Given the description of an element on the screen output the (x, y) to click on. 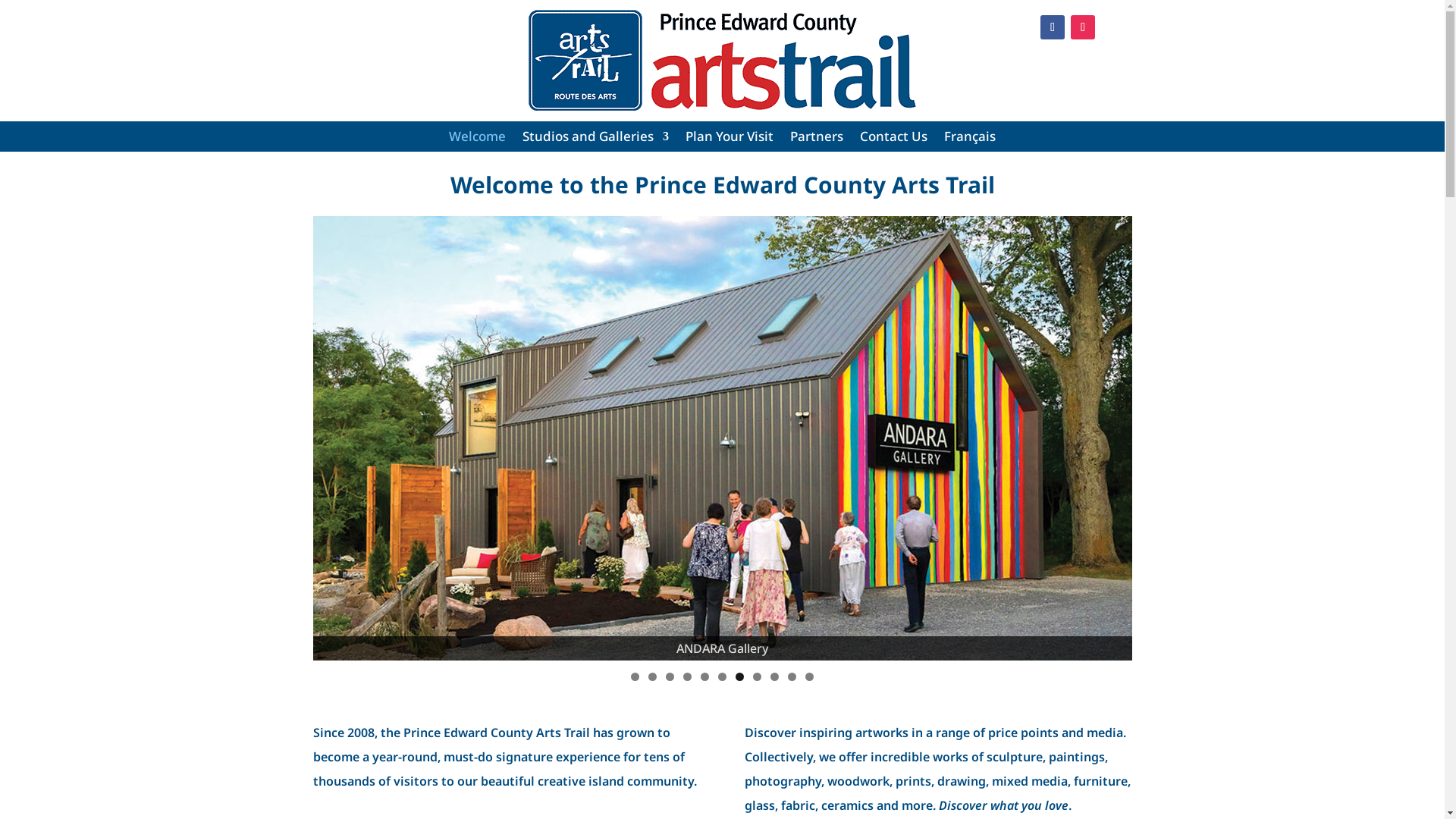
Partners Element type: text (816, 139)
3 Element type: text (669, 676)
Follow on Facebook Element type: hover (1052, 27)
2 Element type: text (652, 676)
ANDARA Gallery Element type: hover (721, 438)
Contact Us Element type: text (893, 139)
8 Element type: text (757, 676)
Plan Your Visit Element type: text (729, 139)
5 Element type: text (704, 676)
7 Element type: text (739, 676)
9 Element type: text (774, 676)
11 Element type: text (809, 676)
Welcome Element type: text (476, 139)
Follow on Instagram Element type: hover (1082, 27)
Studios and Galleries Element type: text (595, 139)
1 Element type: text (634, 676)
6 Element type: text (722, 676)
10 Element type: text (791, 676)
4 Element type: text (687, 676)
